Given the description of an element on the screen output the (x, y) to click on. 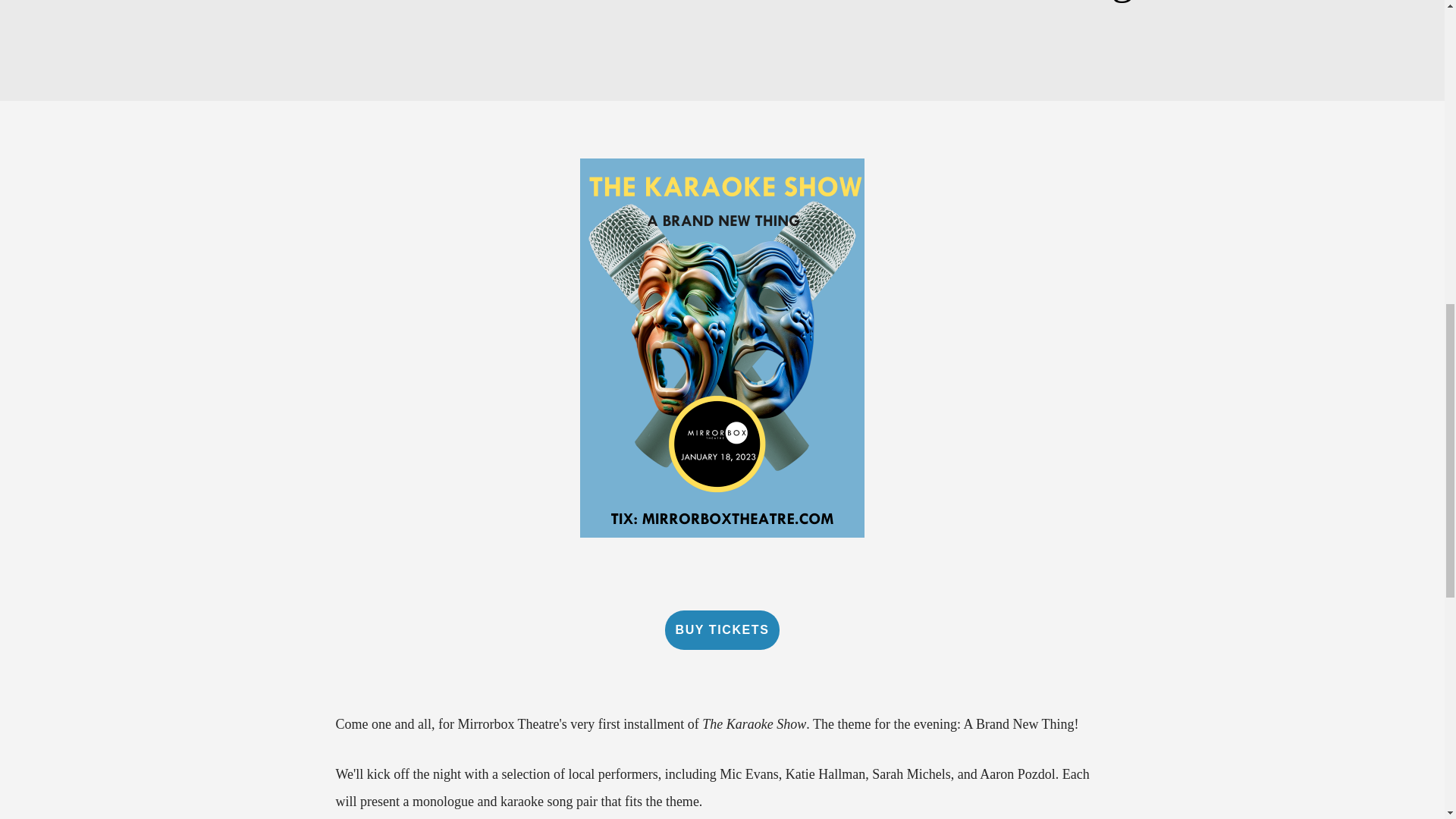
BUY TICKETS (720, 630)
